Given the description of an element on the screen output the (x, y) to click on. 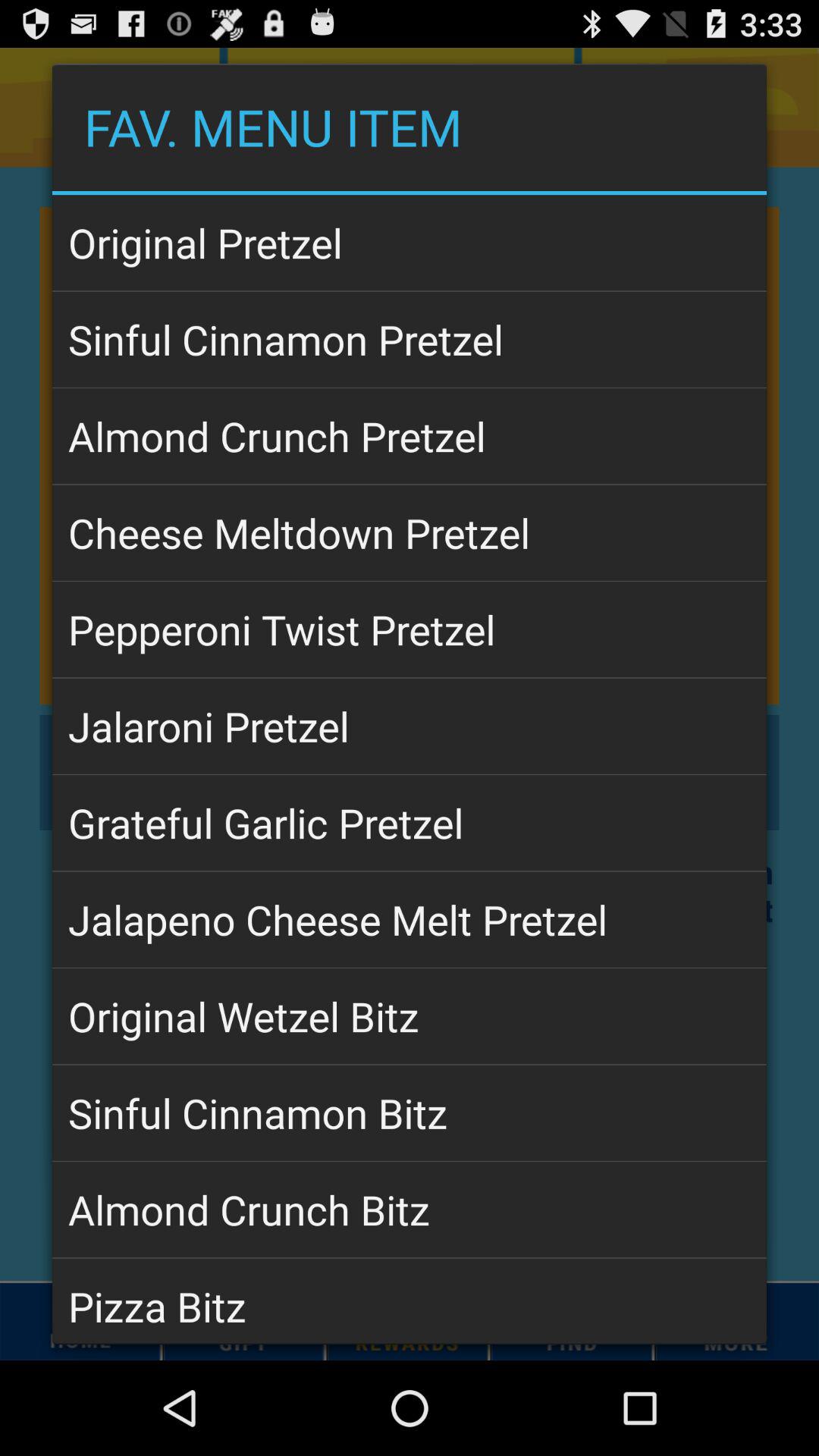
swipe until the original pretzel app (409, 242)
